Given the description of an element on the screen output the (x, y) to click on. 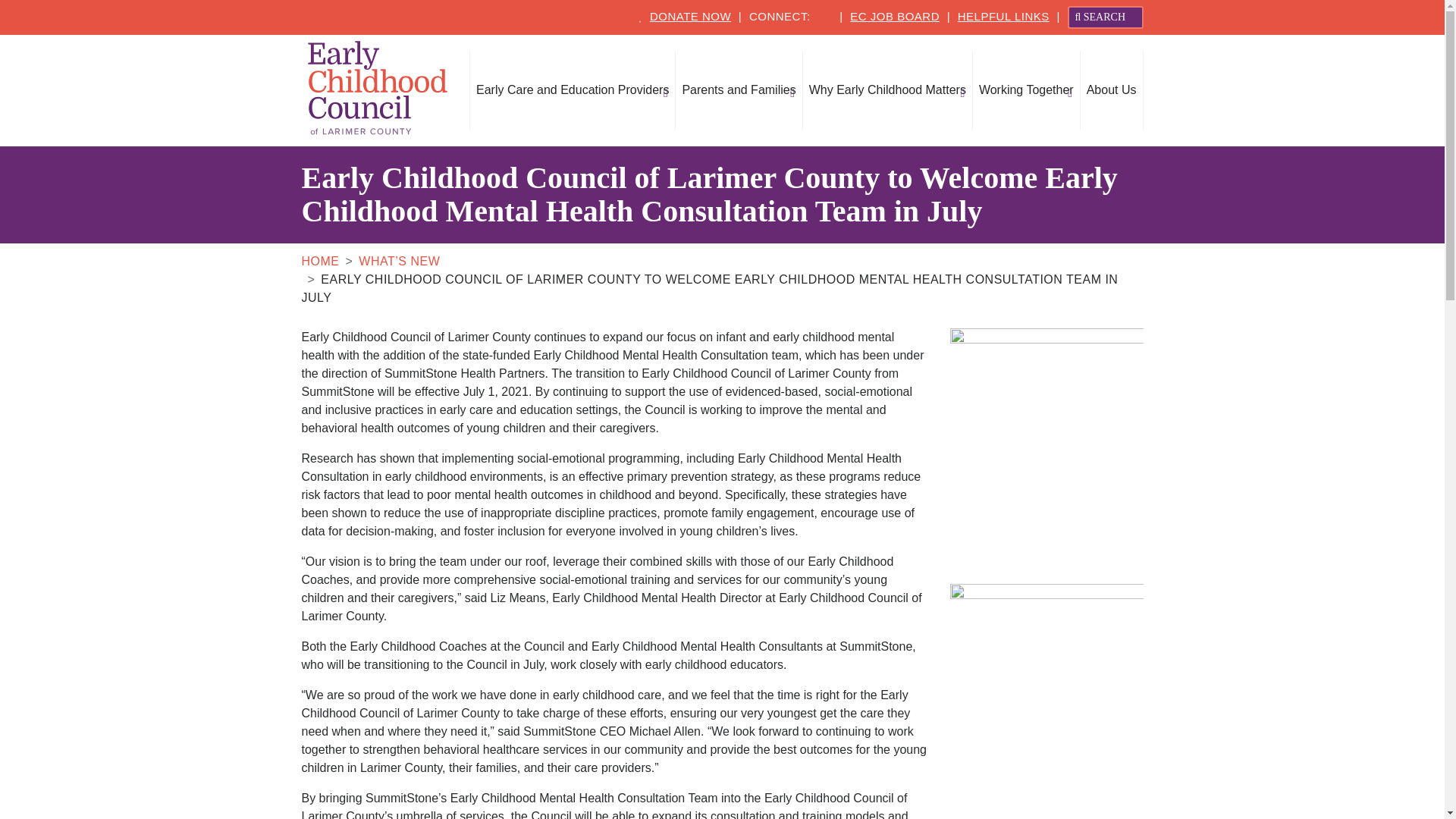
Parents and Families (738, 89)
Parents and Families (738, 89)
HOME (320, 260)
Why Early Childhood Matters (887, 89)
Working Together (1026, 89)
Early Care and Education Providers (572, 89)
EC JOB BOARD (894, 15)
Why Early Childhood Matters (887, 89)
Early Care and Education Providers (572, 89)
HELPFUL LINKS (1003, 15)
Working Together (1026, 89)
DONATE NOW (689, 15)
